Given the description of an element on the screen output the (x, y) to click on. 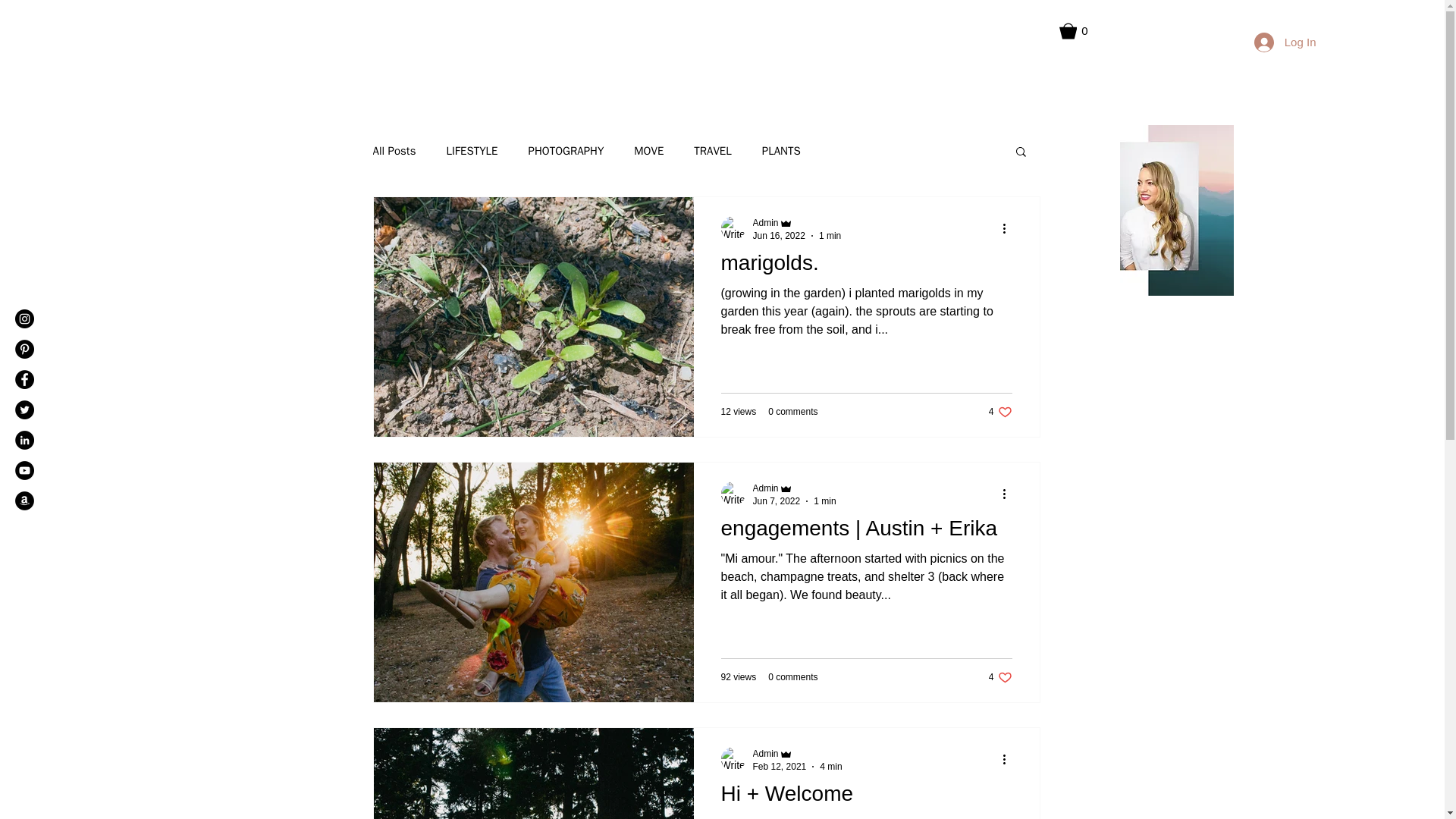
Admin (999, 411)
TRAVEL (796, 753)
PHOTOGRAPHY (712, 151)
4 min (565, 151)
Admin (830, 766)
Jun 7, 2022 (764, 488)
1 min (775, 501)
Admin (824, 501)
0 comments (764, 222)
PLANTS (792, 676)
Log In (780, 151)
1 min (1284, 41)
marigolds. (829, 235)
MOVE (865, 267)
